Given the description of an element on the screen output the (x, y) to click on. 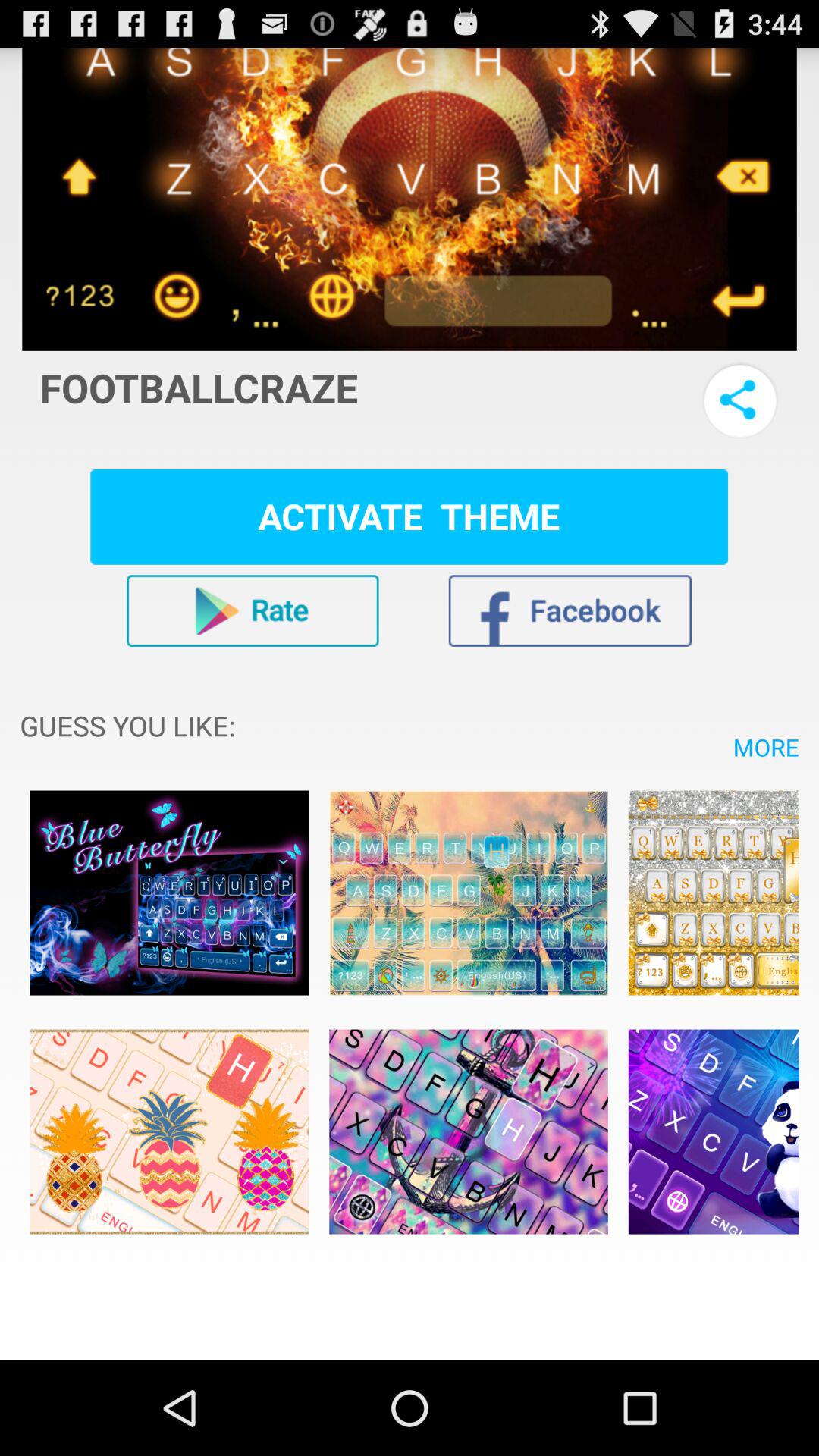
click to select blue butterfly theme (169, 892)
